Given the description of an element on the screen output the (x, y) to click on. 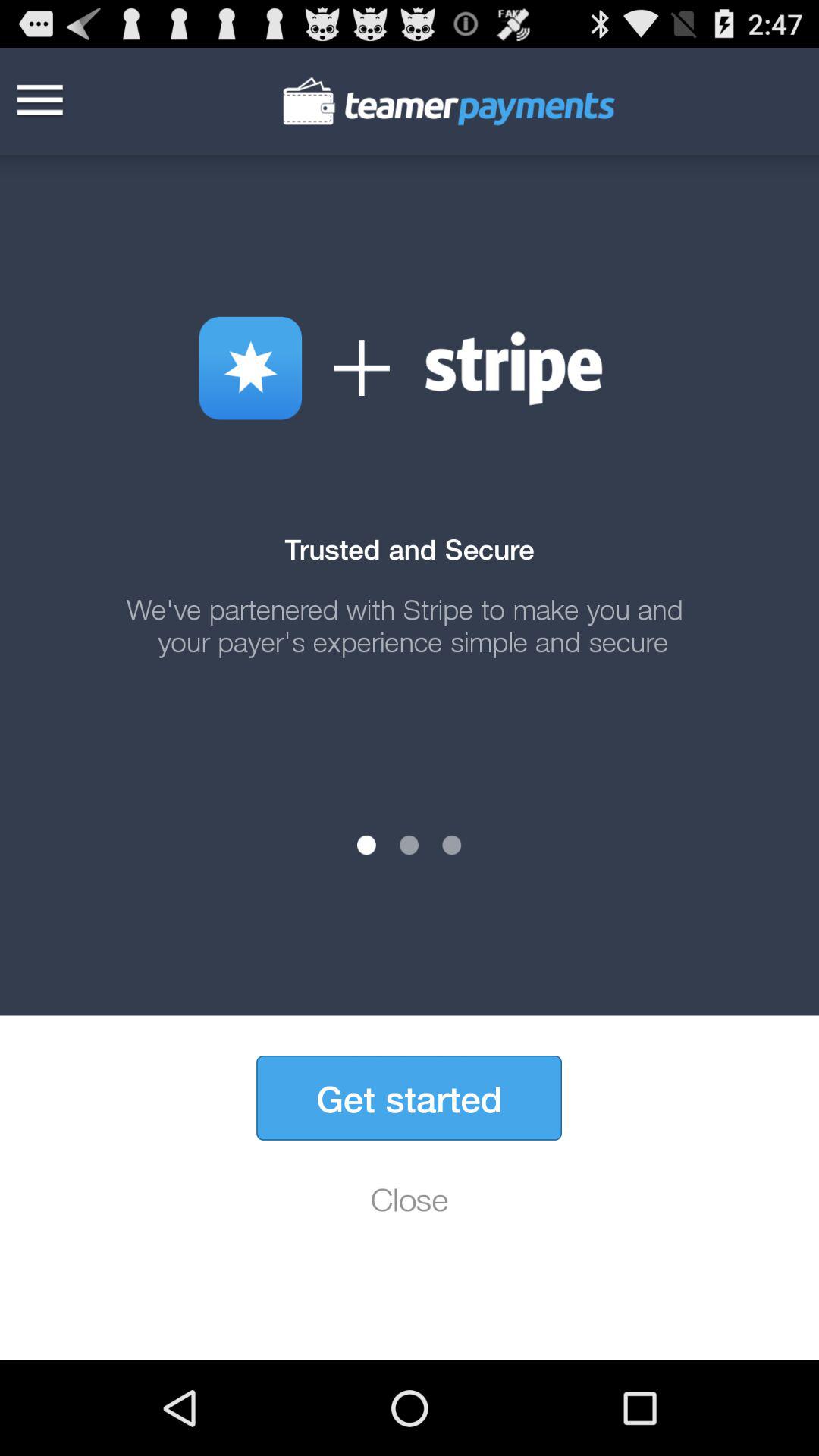
open the get started icon (408, 1097)
